Given the description of an element on the screen output the (x, y) to click on. 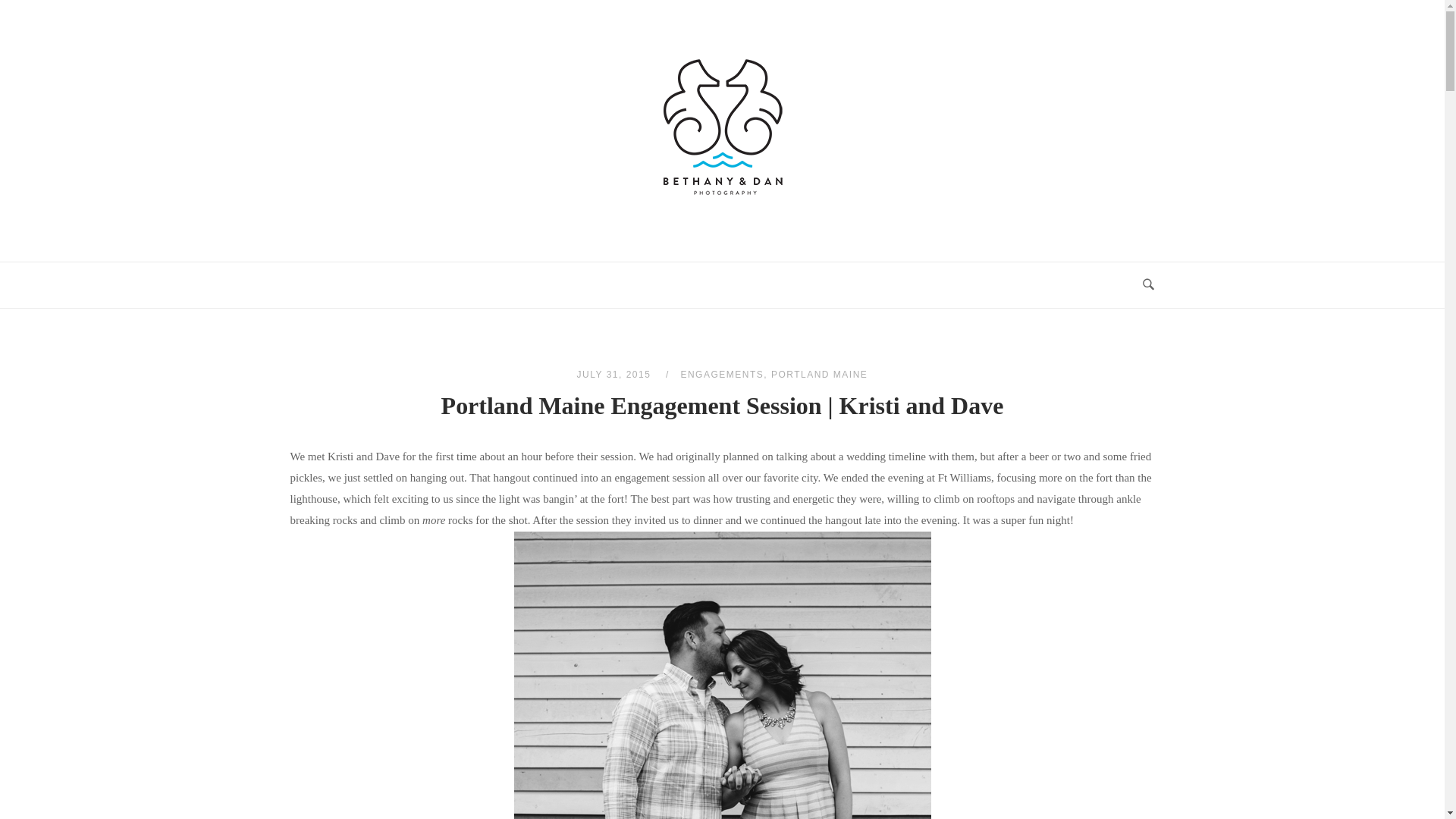
Old Port Engagement Photo  (722, 675)
PORTLAND MAINE (819, 374)
ENGAGEMENTS (720, 374)
Home (722, 204)
